Given the description of an element on the screen output the (x, y) to click on. 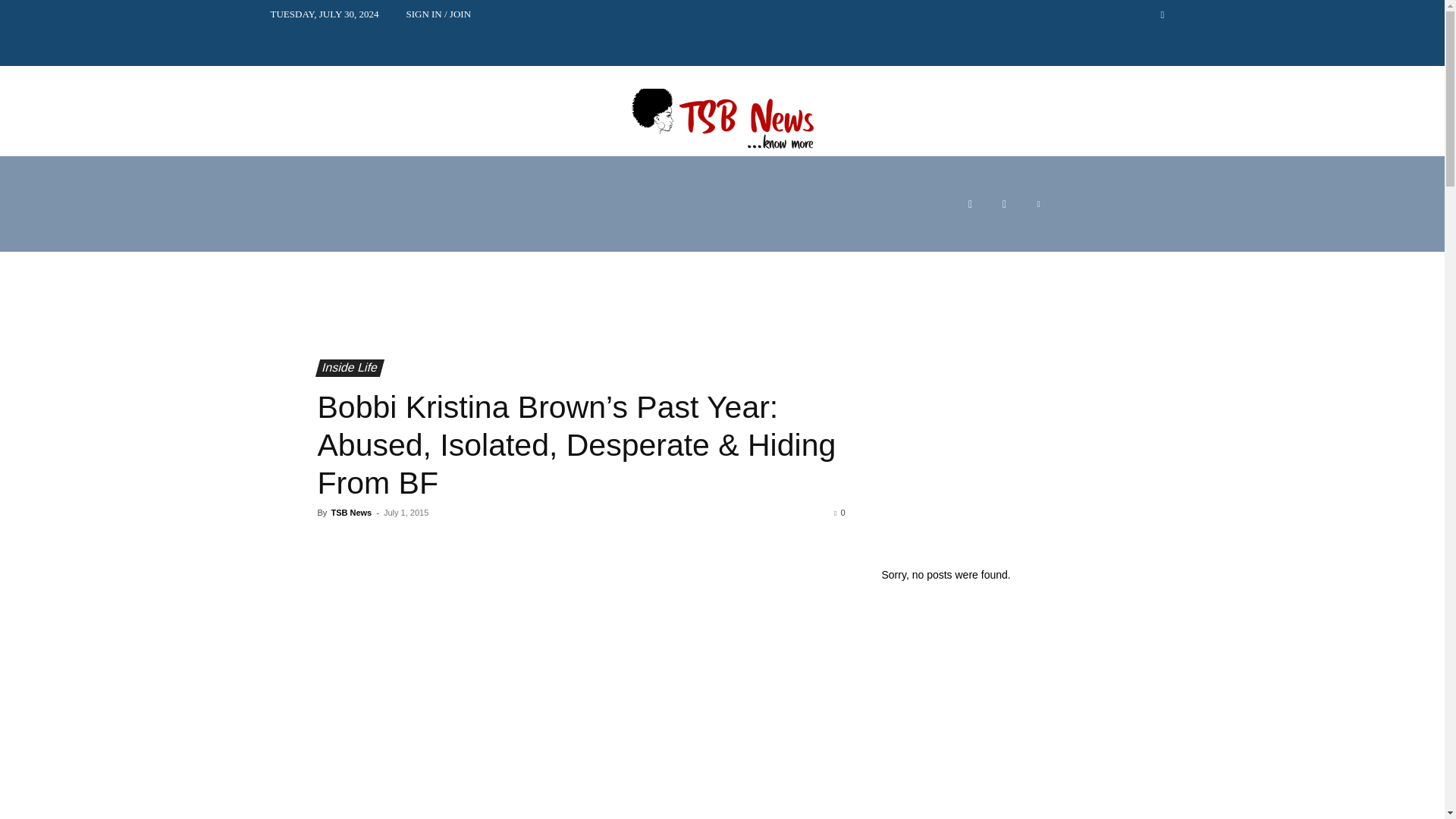
TSB News (350, 511)
Inside Life (346, 367)
Instagram (1004, 203)
Twitter (1038, 203)
Bobbi Kristina, Nick Gordon, Rings (581, 677)
Facebook (970, 203)
0 (839, 511)
